Given the description of an element on the screen output the (x, y) to click on. 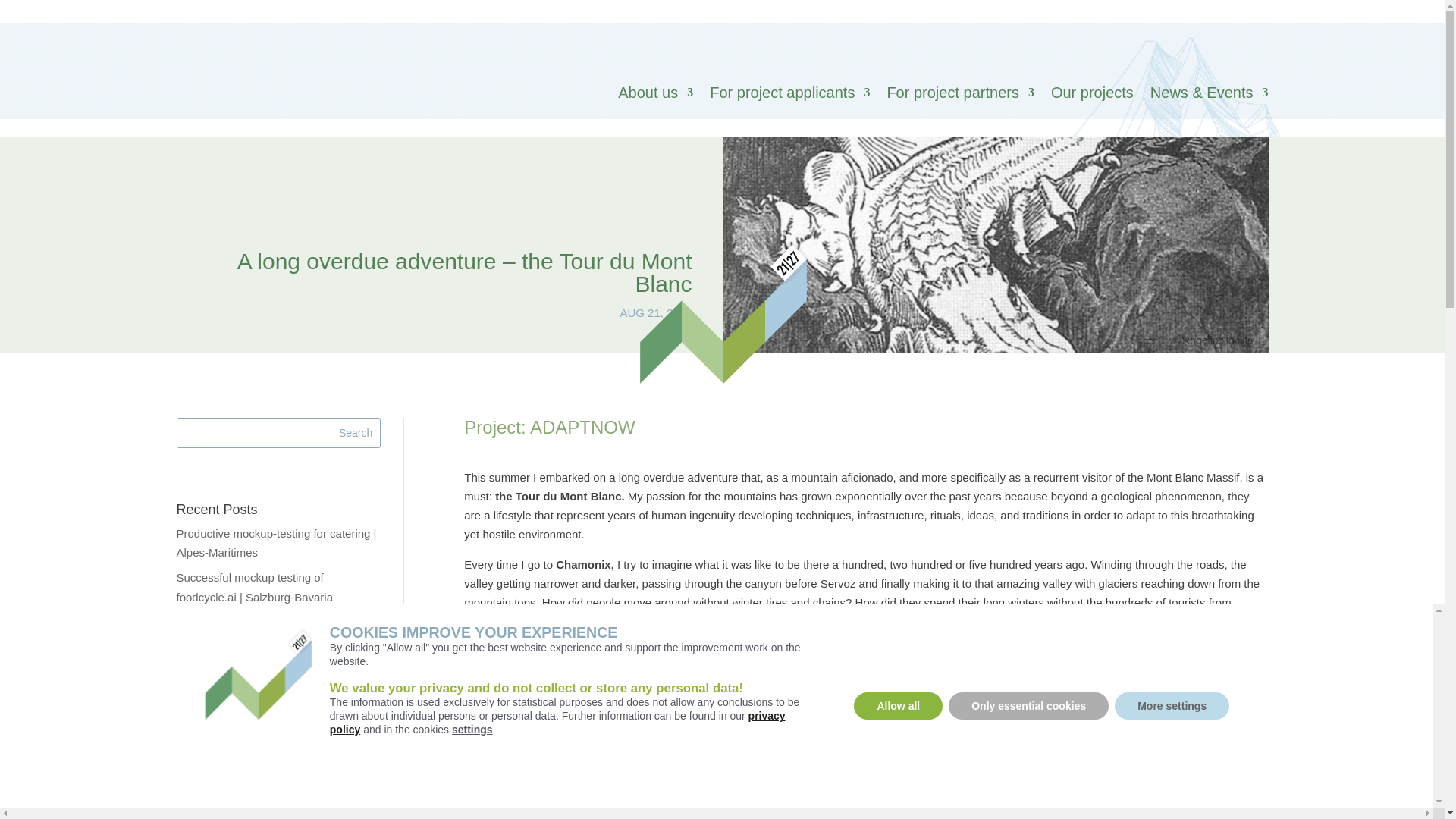
Search (355, 432)
